Given the description of an element on the screen output the (x, y) to click on. 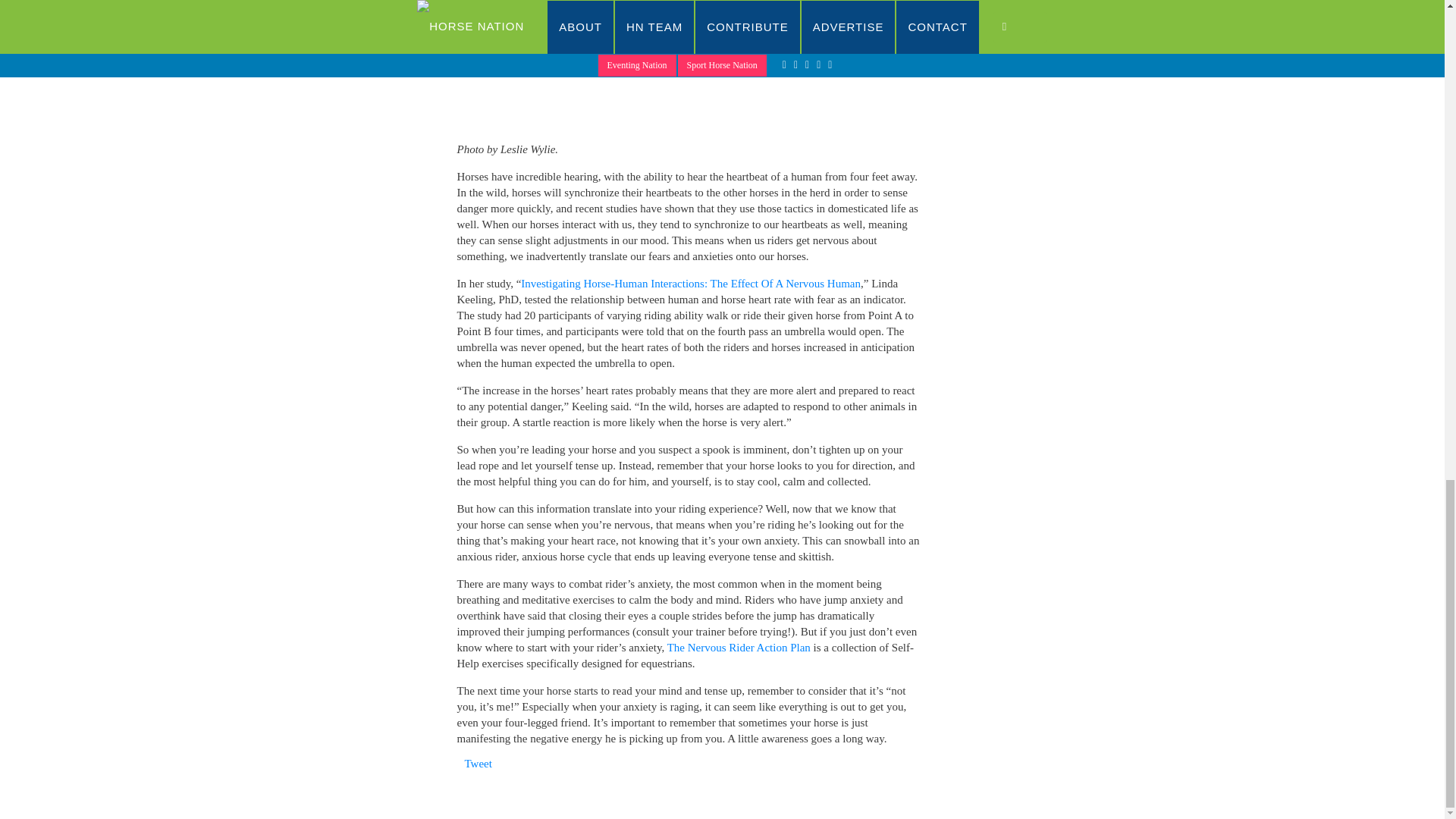
The Nervous Rider Action Plan (738, 647)
Tweet (478, 763)
